Given the description of an element on the screen output the (x, y) to click on. 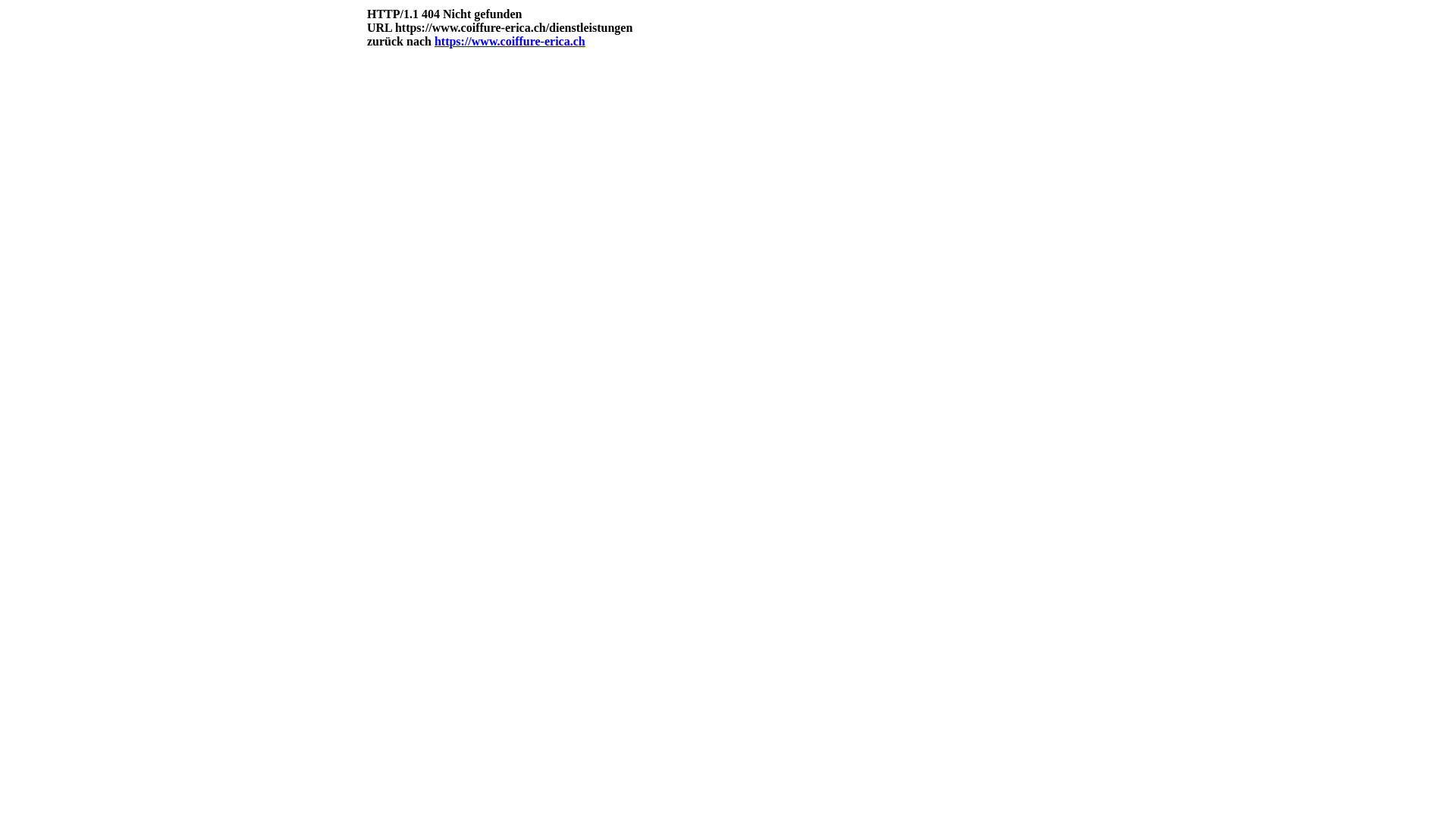
https://www.coiffure-erica.ch Element type: text (509, 40)
